Given the description of an element on the screen output the (x, y) to click on. 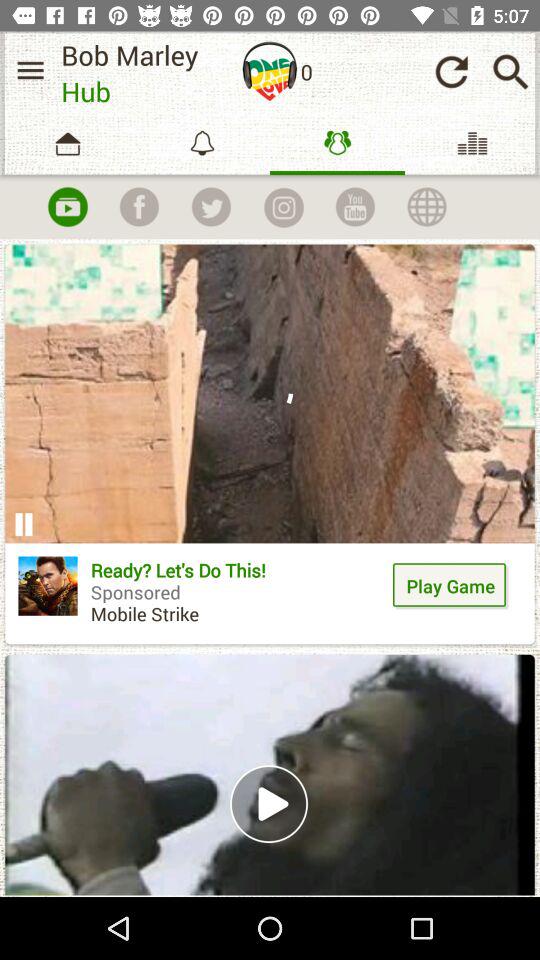
album cover (269, 71)
